Given the description of an element on the screen output the (x, y) to click on. 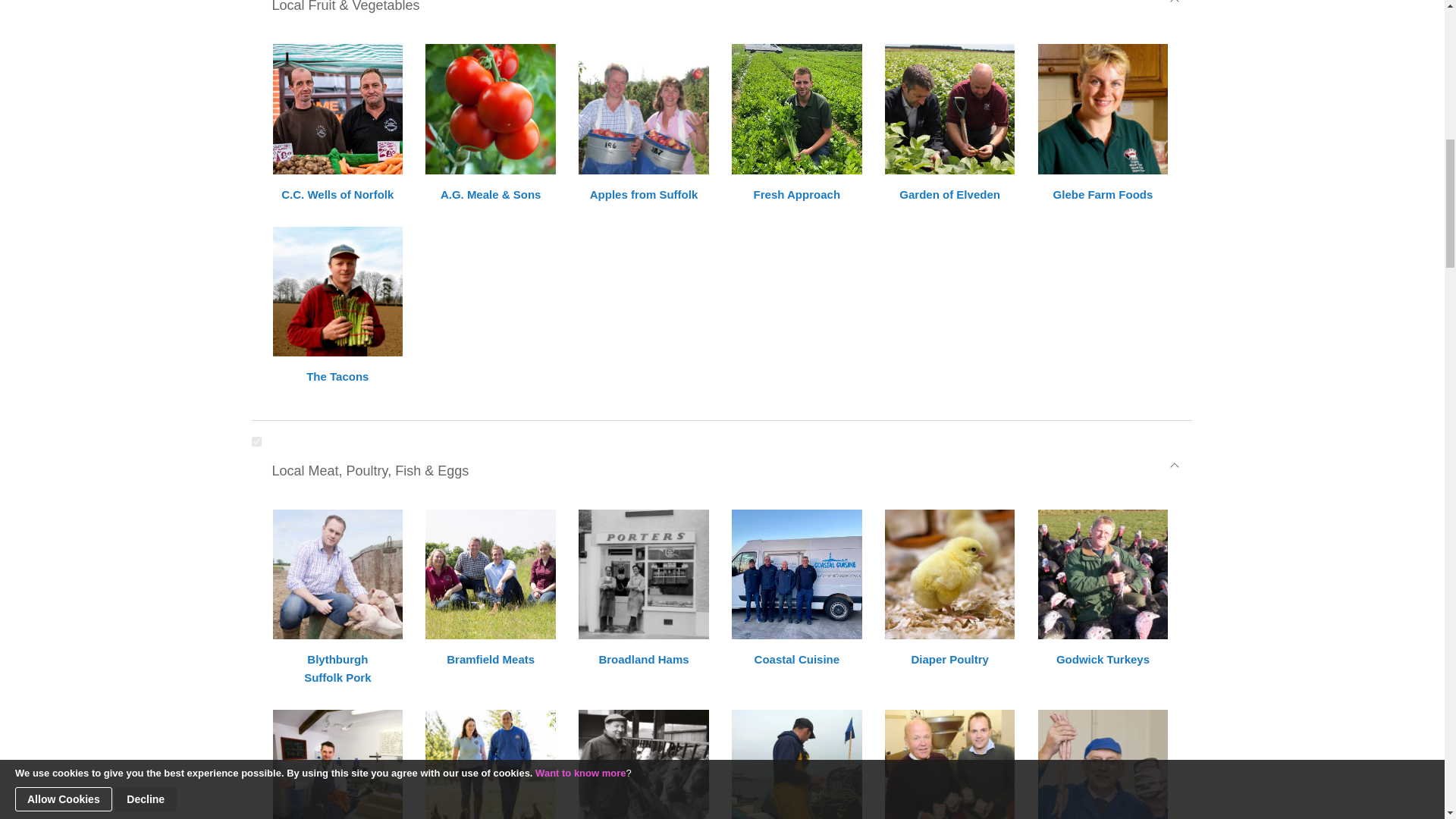
on (256, 441)
